Given the description of an element on the screen output the (x, y) to click on. 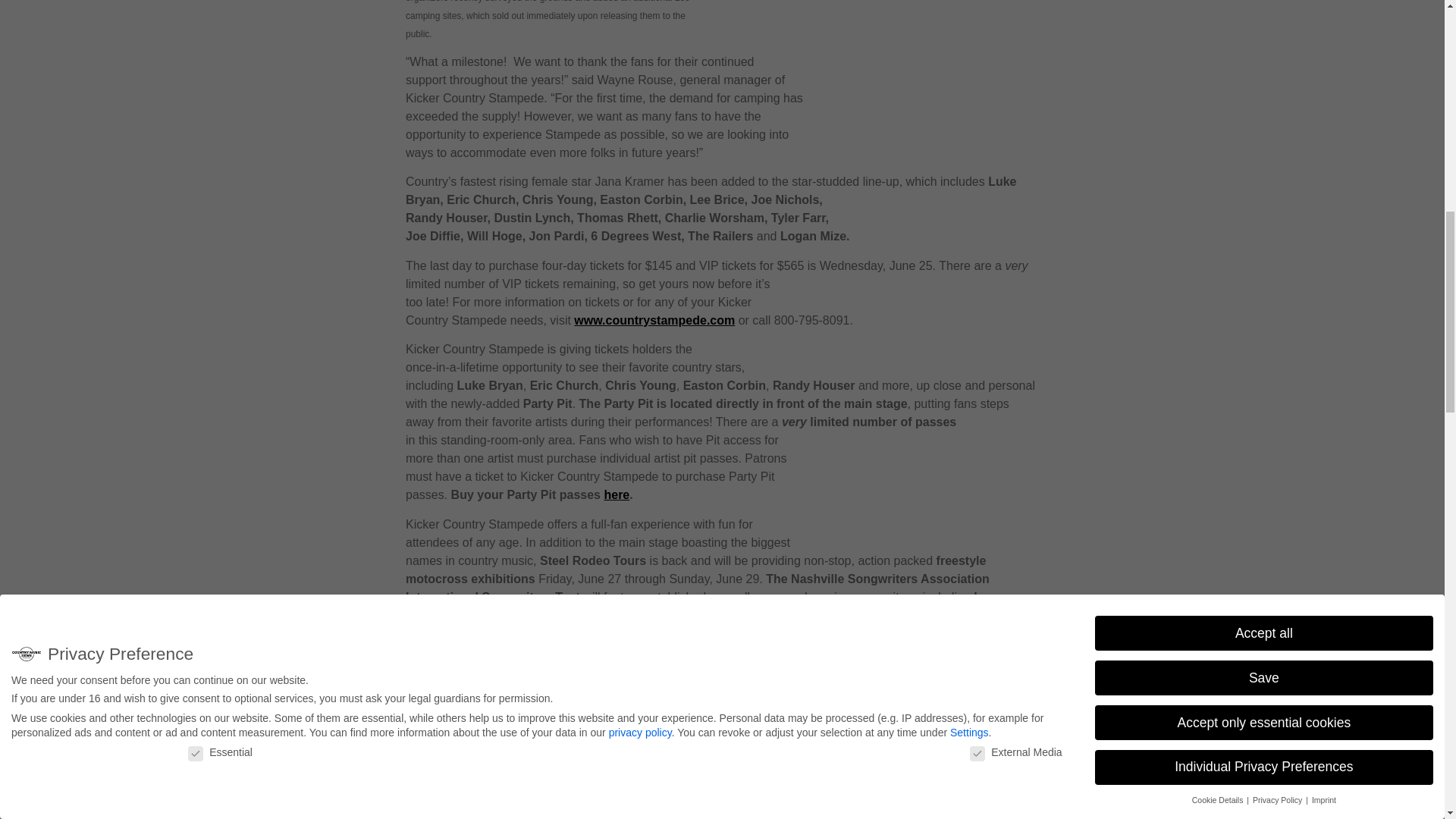
www.countrystampede.com (654, 319)
here (616, 494)
